Given the description of an element on the screen output the (x, y) to click on. 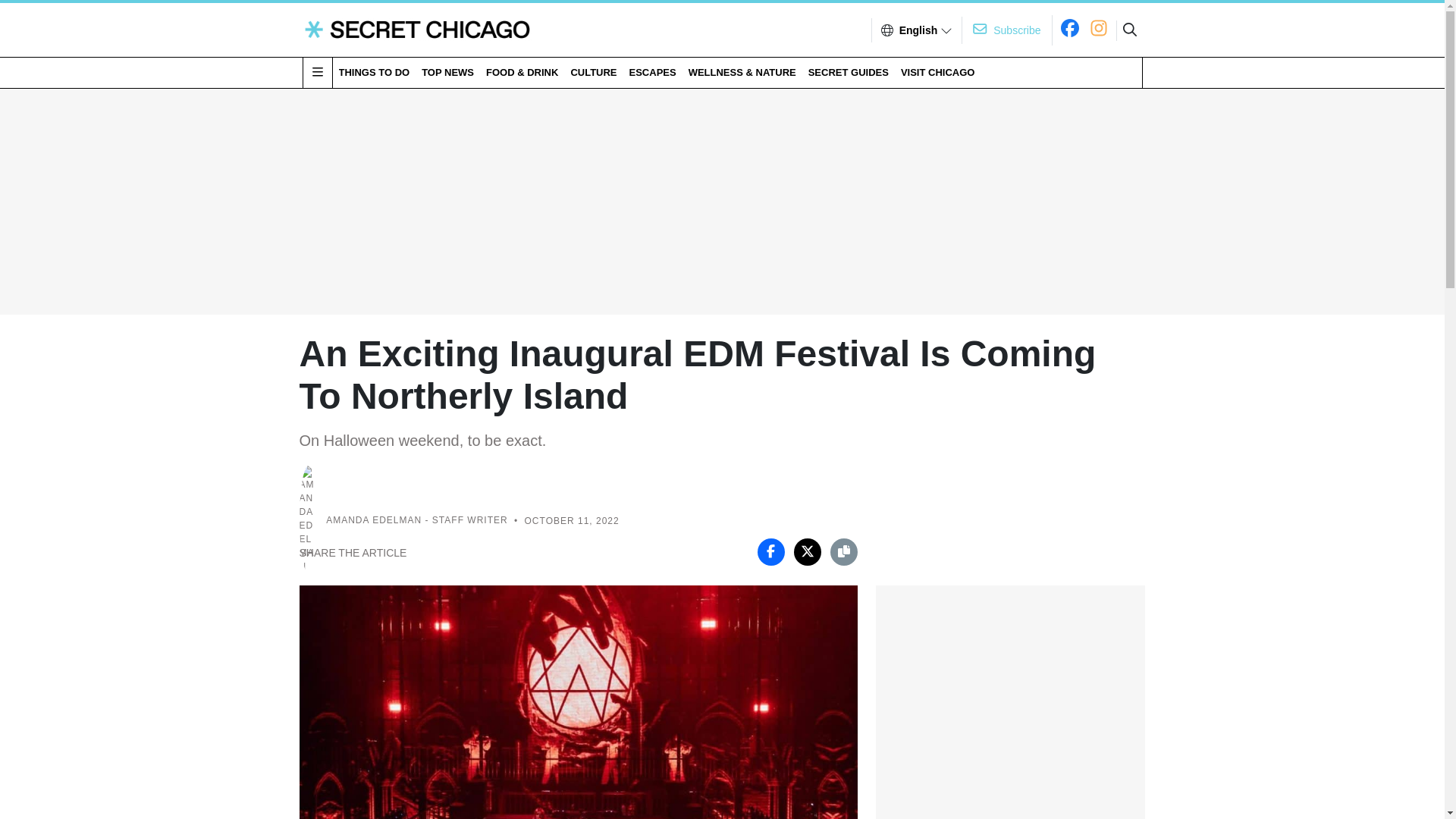
English (918, 29)
THINGS TO DO (373, 72)
CULTURE (592, 72)
AMANDA EDELMAN (374, 520)
TOP NEWS (448, 72)
SECRET GUIDES (848, 72)
VISIT CHICAGO (938, 72)
ESCAPES (652, 72)
